Given the description of an element on the screen output the (x, y) to click on. 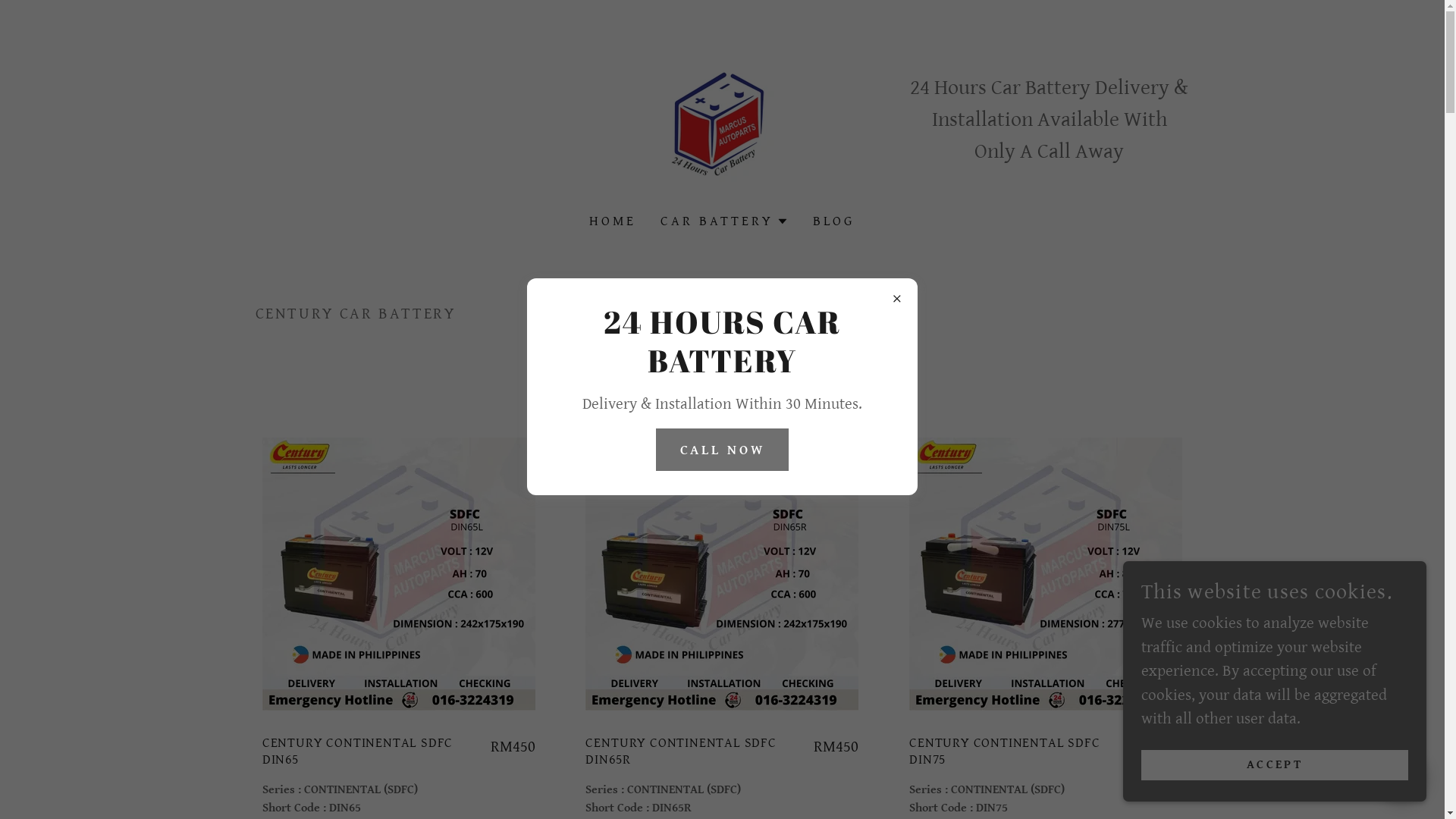
CALL NOW Element type: text (722, 449)
CAR BATTERY Element type: text (723, 221)
BLOG Element type: text (833, 221)
HOME Element type: text (612, 221)
ACCEPT Element type: text (1274, 764)
24 HOURS CAR BATTERY SERVICE Element type: hover (721, 117)
